Given the description of an element on the screen output the (x, y) to click on. 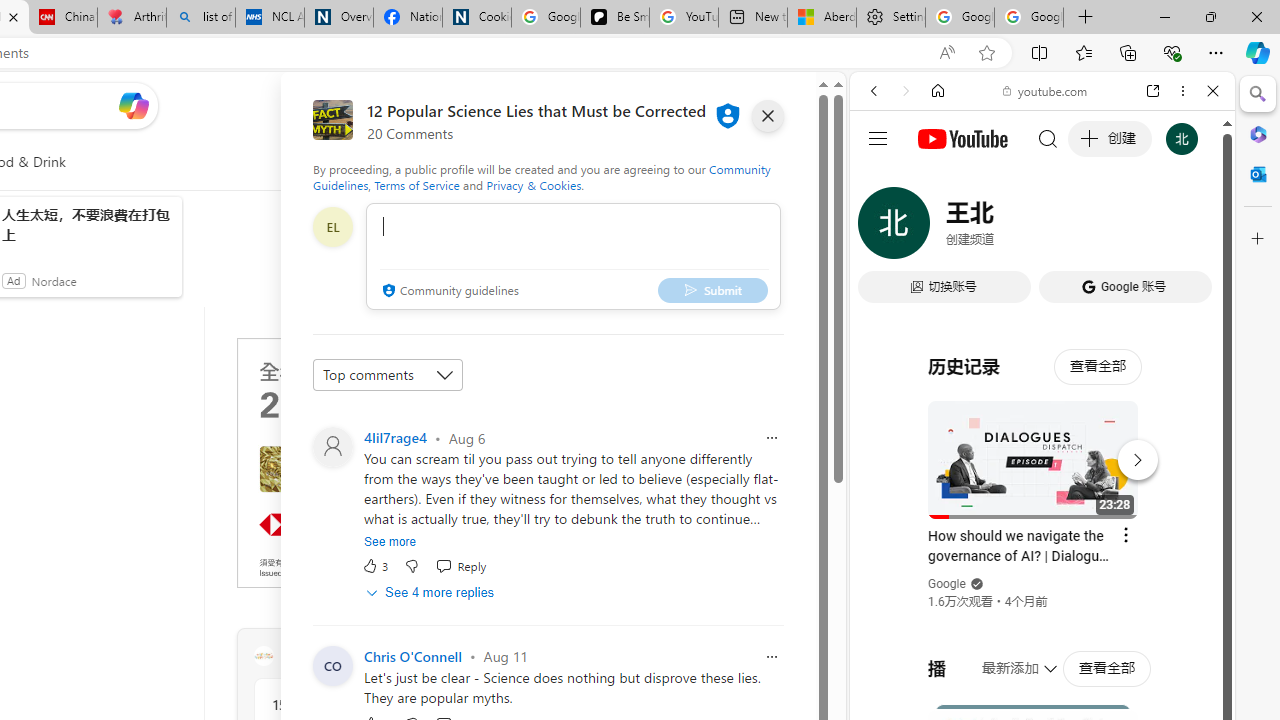
Search videos from youtube.com (1005, 657)
#you (1042, 445)
